Given the description of an element on the screen output the (x, y) to click on. 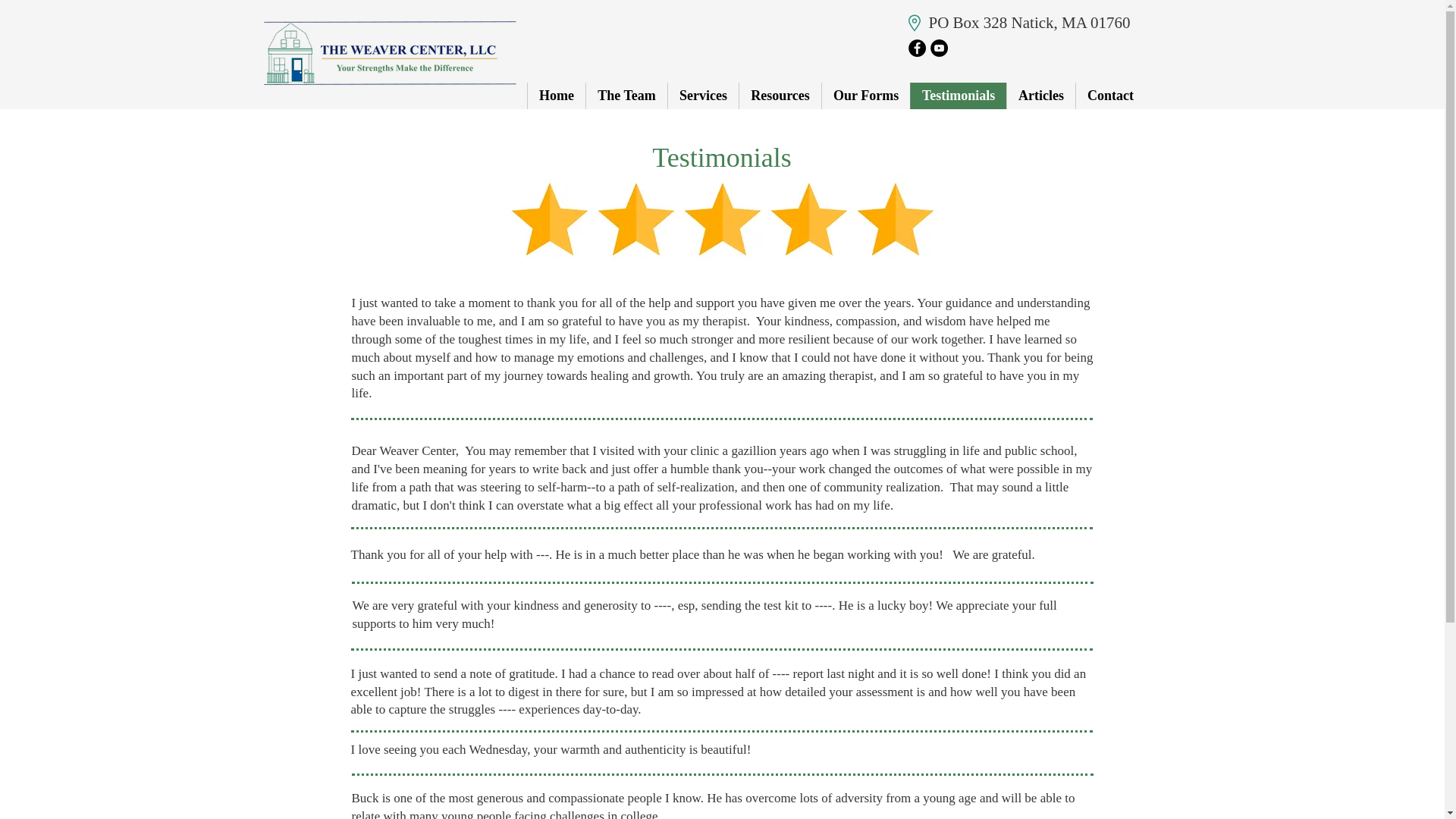
Testimonials (958, 95)
Contact (1109, 95)
Home (556, 95)
Services (702, 95)
Resources (779, 95)
The Team (625, 95)
